Given the description of an element on the screen output the (x, y) to click on. 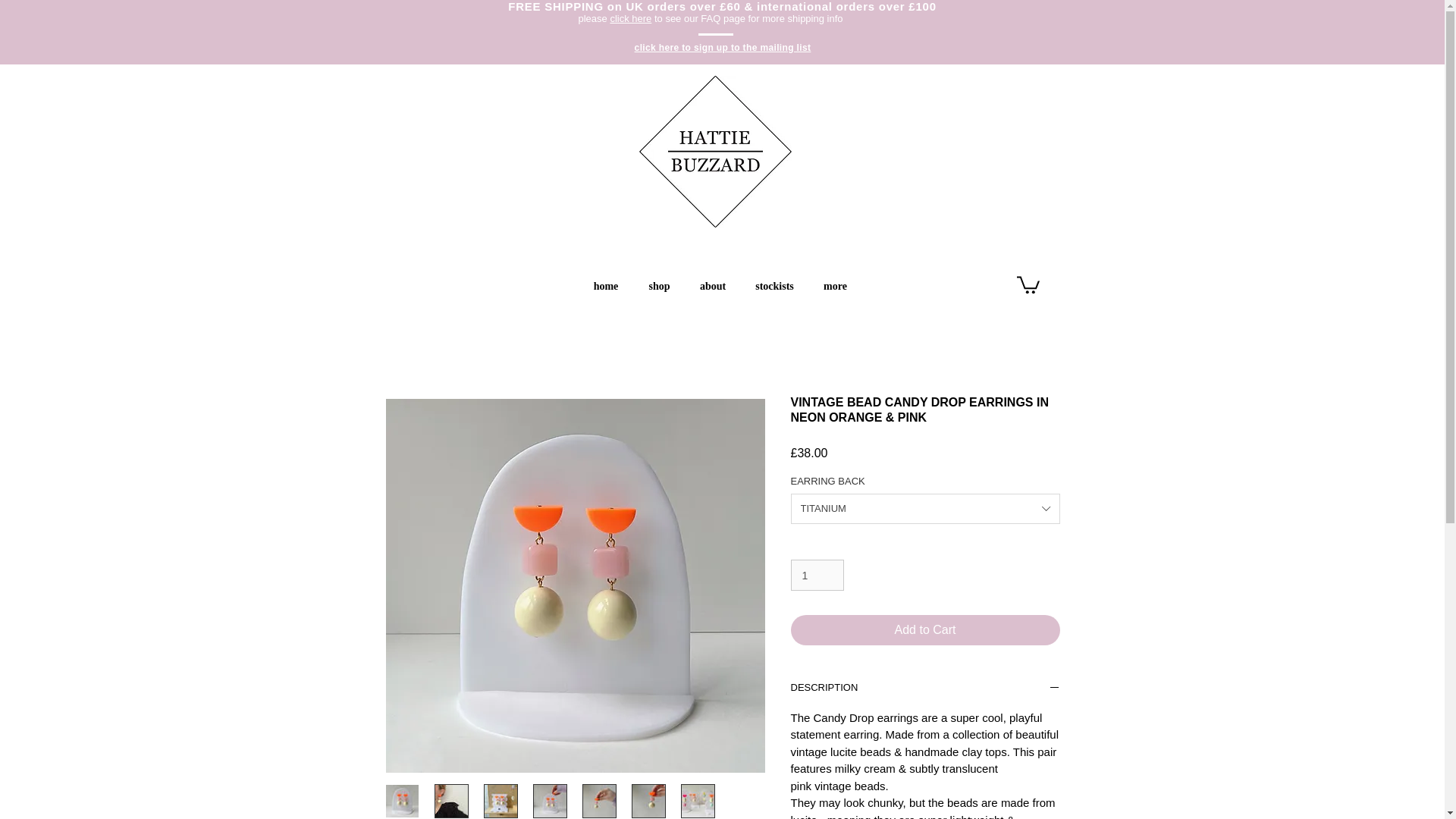
Add to Cart (924, 630)
about (713, 286)
TITANIUM (924, 508)
DESCRIPTION (924, 688)
click here (630, 18)
home (605, 286)
click here to sign up to the mailing list (722, 47)
stockists (773, 286)
1 (817, 574)
shop (659, 286)
